Given the description of an element on the screen output the (x, y) to click on. 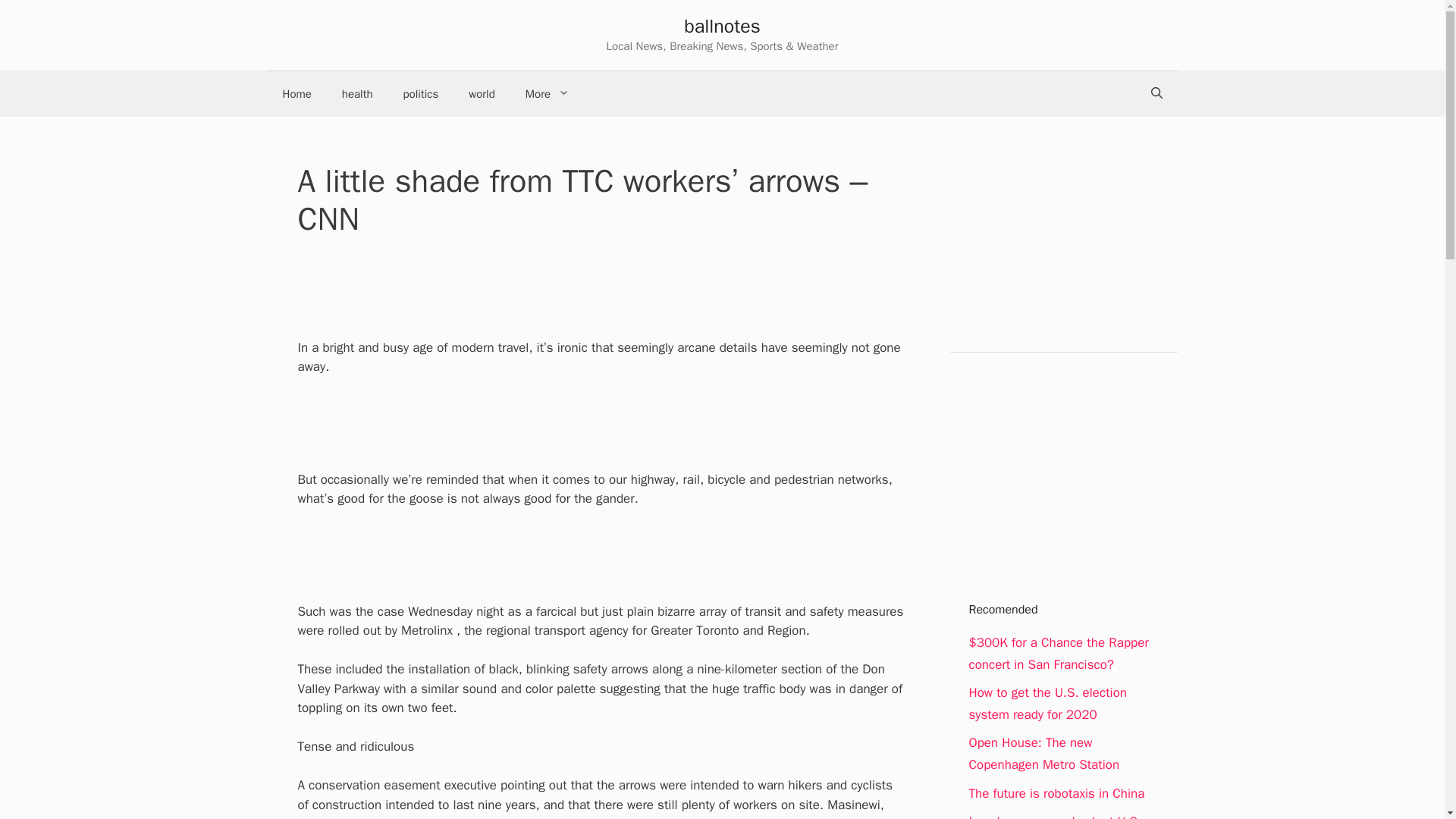
politics (421, 94)
Home (296, 94)
More (548, 94)
How to get the U.S. election system ready for 2020 (1047, 703)
world (480, 94)
health (357, 94)
The future is robotaxis in China (1056, 793)
ballnotes (722, 25)
Open House: The new Copenhagen Metro Station (1044, 753)
